Given the description of an element on the screen output the (x, y) to click on. 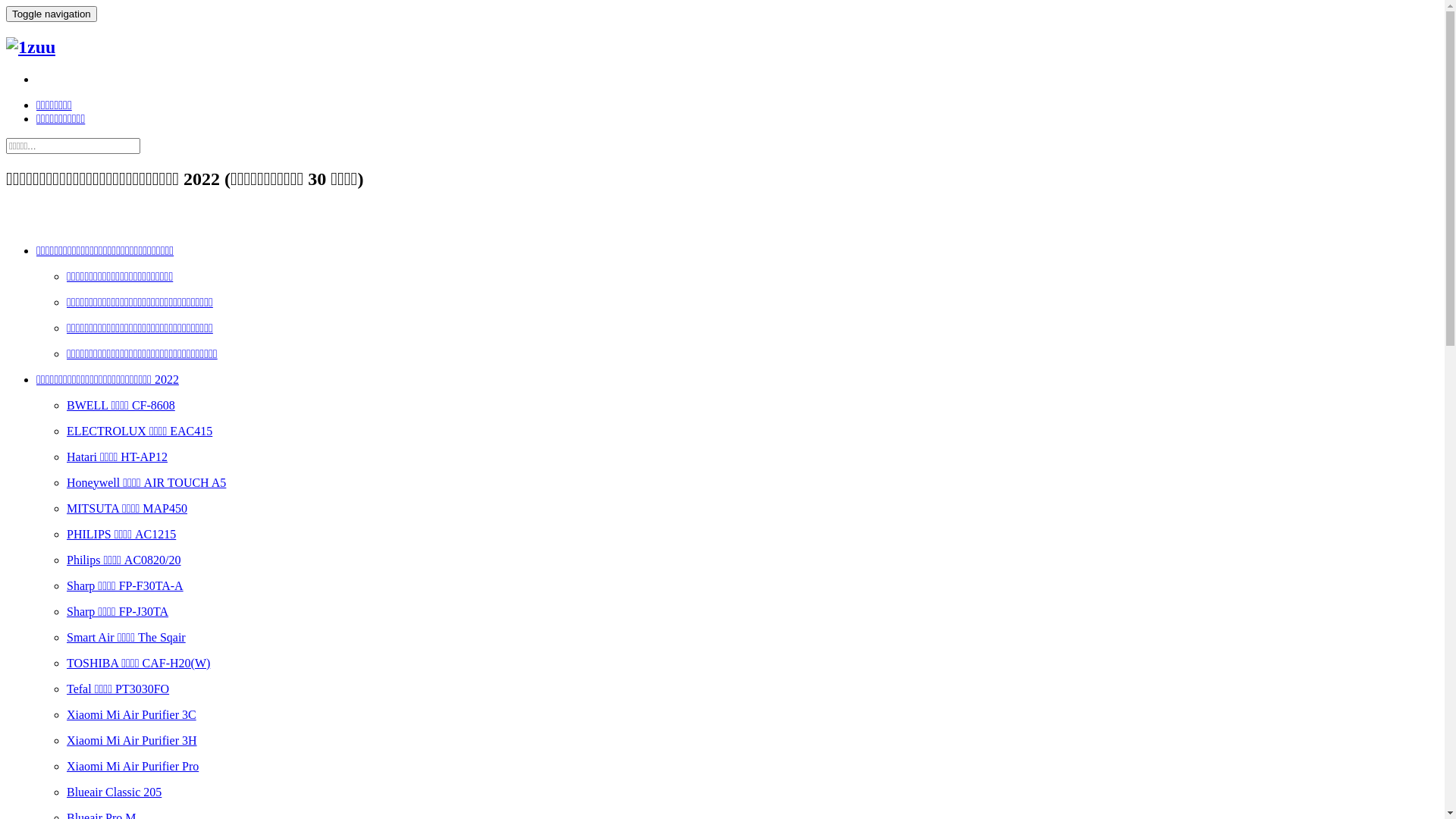
Xiaomi Mi Air Purifier 3H Element type: text (131, 740)
Xiaomi Mi Air Purifier 3C Element type: text (131, 714)
1zuu Element type: hover (30, 47)
Toggle navigation Element type: text (51, 13)
Blueair Classic 205 Element type: text (113, 791)
Xiaomi Mi Air Purifier Pro Element type: text (132, 765)
